Given the description of an element on the screen output the (x, y) to click on. 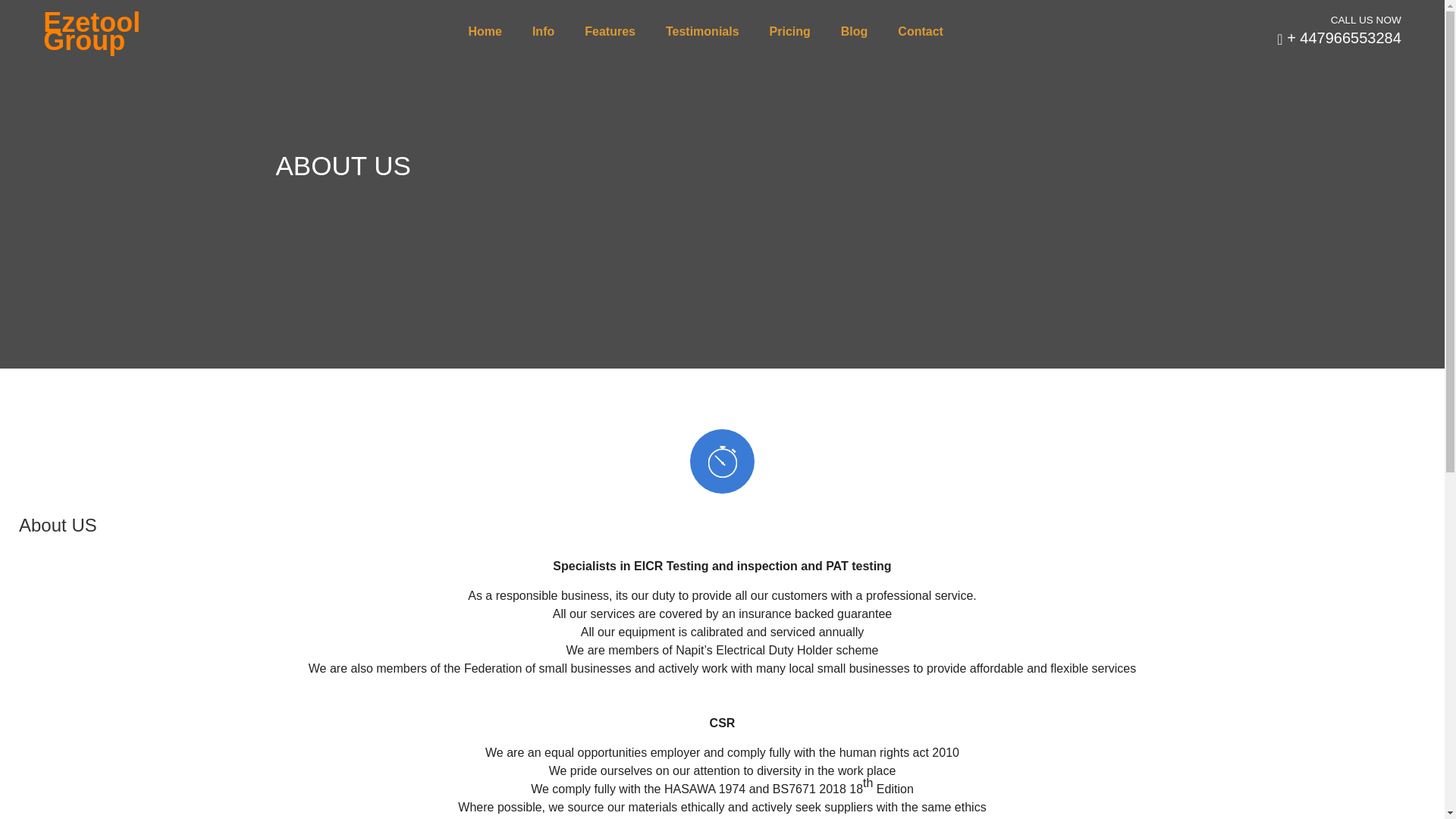
Home (483, 31)
Features (609, 31)
Contact (920, 31)
Testimonials (702, 31)
Pricing (790, 31)
Features (609, 31)
Info (543, 31)
Blog (854, 31)
Ezetool Group (88, 31)
Home (483, 31)
Pricing (790, 31)
Testimonials (702, 31)
Blog (854, 31)
Contact (920, 31)
Info (543, 31)
